Given the description of an element on the screen output the (x, y) to click on. 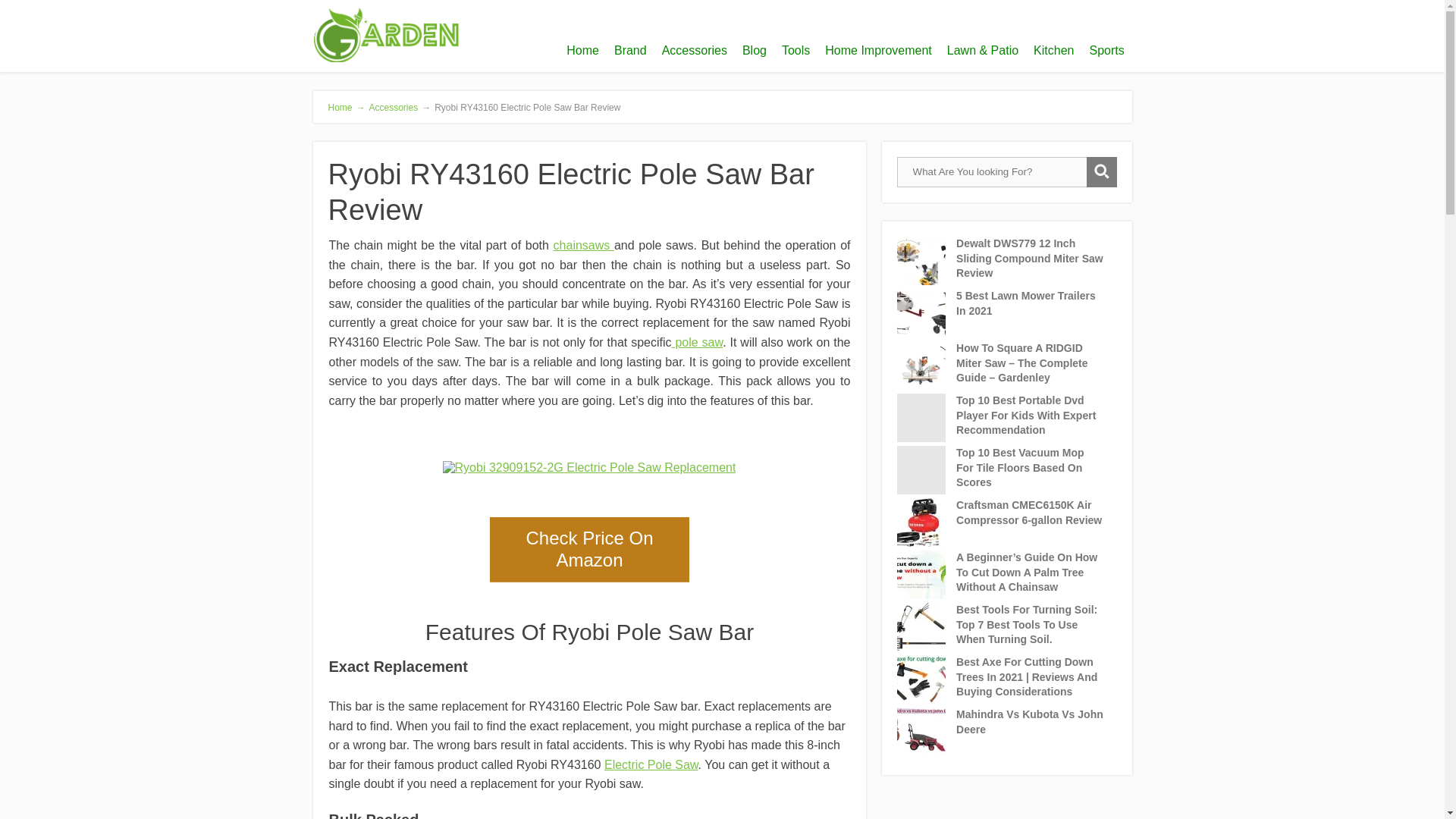
pole saw (697, 341)
Sports (1106, 50)
Brand (630, 50)
Tools (795, 50)
Blog (754, 50)
Electric Pole Saw (651, 764)
chainsaws (583, 245)
Home (583, 50)
Check Price On Amazon (588, 549)
Home Improvement (877, 50)
Accessories (694, 50)
Accessories (394, 107)
Kitchen (1053, 50)
Ryobi 32909152-2G Electric Pole Saw Replacement (589, 468)
